Given the description of an element on the screen output the (x, y) to click on. 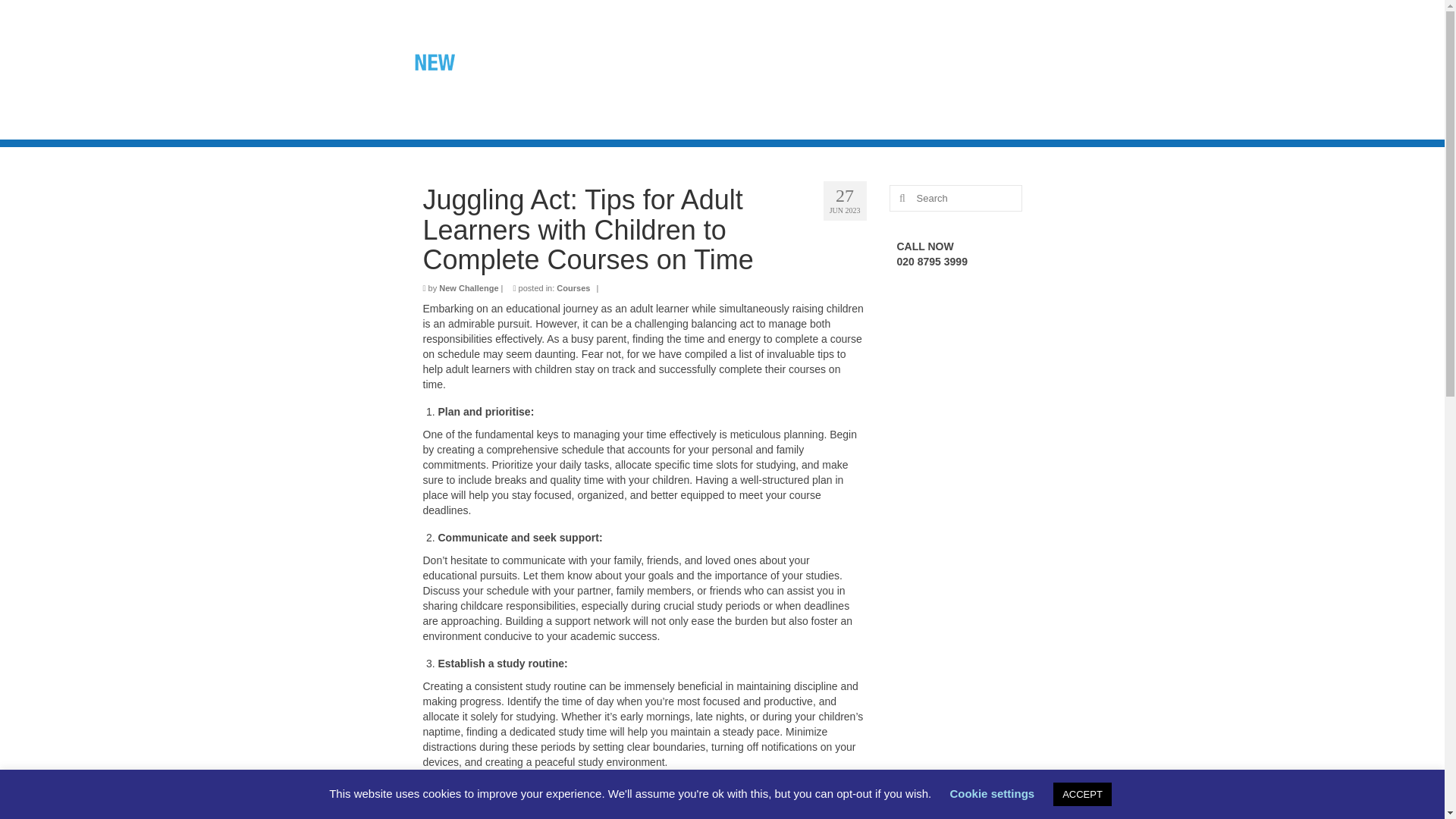
COURSES (628, 90)
VISION (847, 61)
BLOG (686, 61)
ACCEPT (1082, 793)
Cookie settings (991, 793)
CUSTOMERS (938, 61)
EMPLOYERS (1045, 61)
ABOUT US (764, 61)
CONTACT (717, 90)
New Challenge (468, 287)
